Given the description of an element on the screen output the (x, y) to click on. 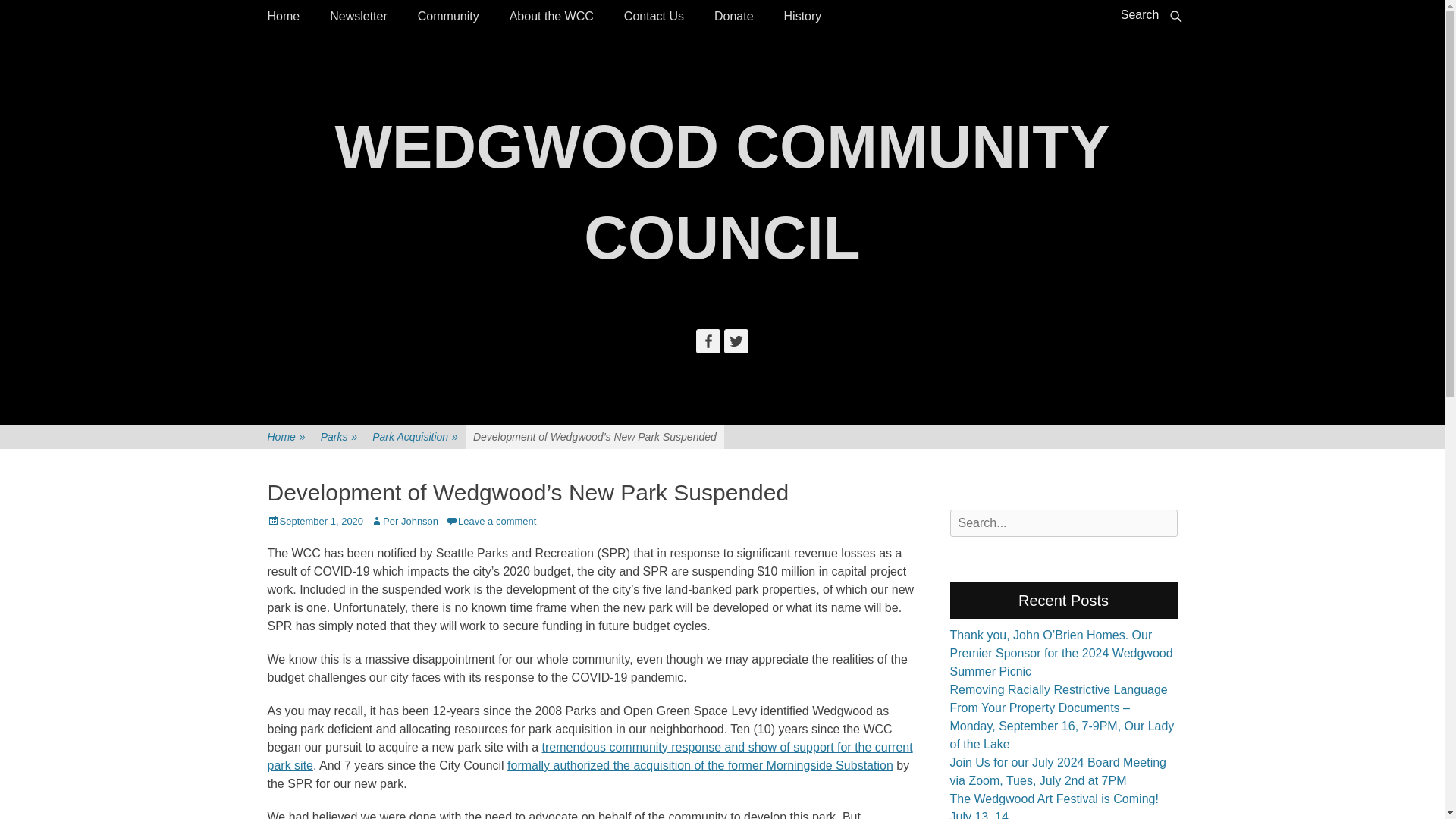
September 1, 2020 (314, 521)
About the WCC (551, 16)
Contact Us (653, 16)
Twitter (735, 340)
Per Johnson (404, 521)
Twitter (735, 340)
Search for: (1062, 523)
WEDGWOOD COMMUNITY COUNCIL (721, 192)
Donate (733, 16)
